Given the description of an element on the screen output the (x, y) to click on. 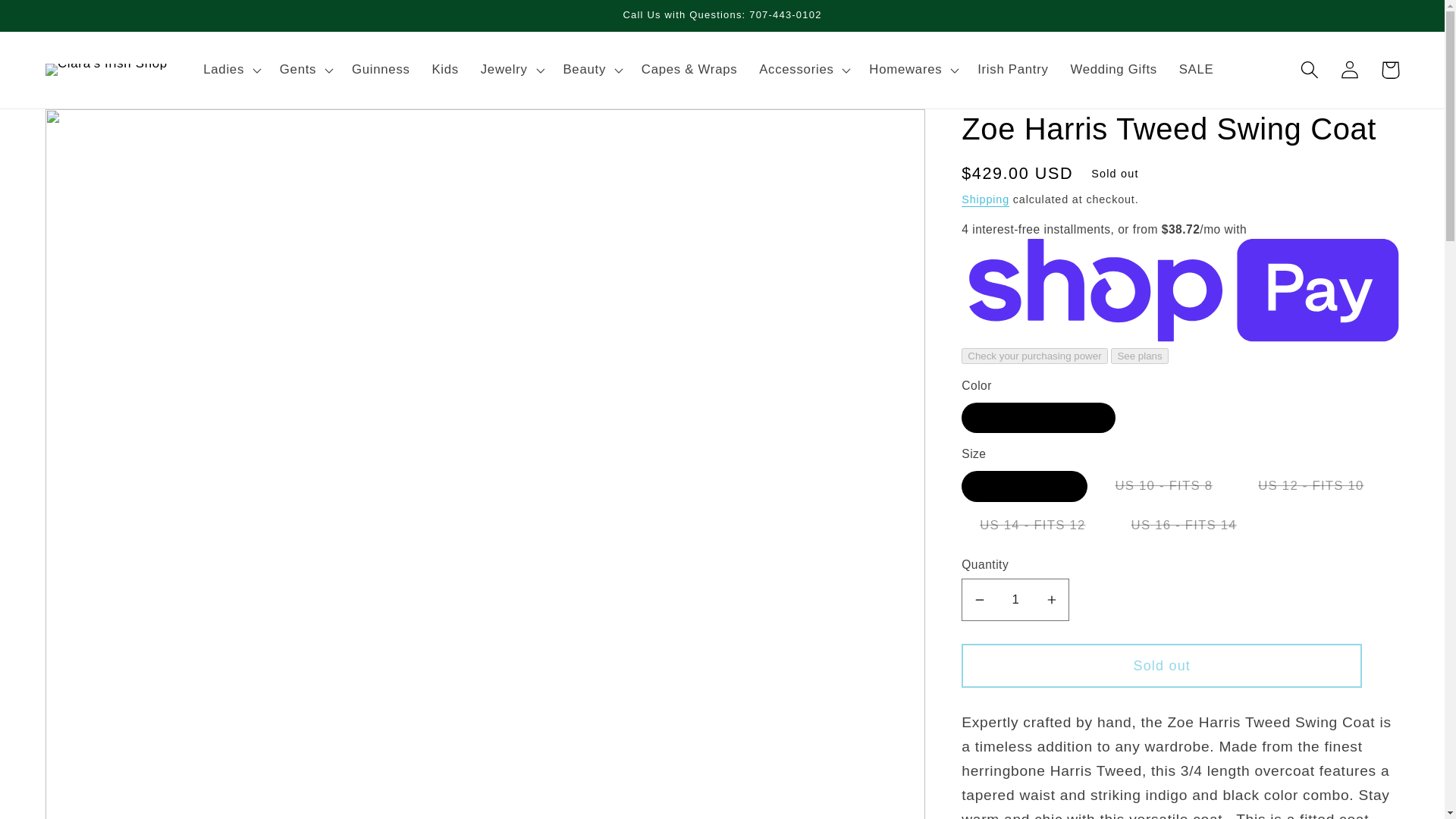
Skip to content (56, 21)
1 (1014, 599)
